Given the description of an element on the screen output the (x, y) to click on. 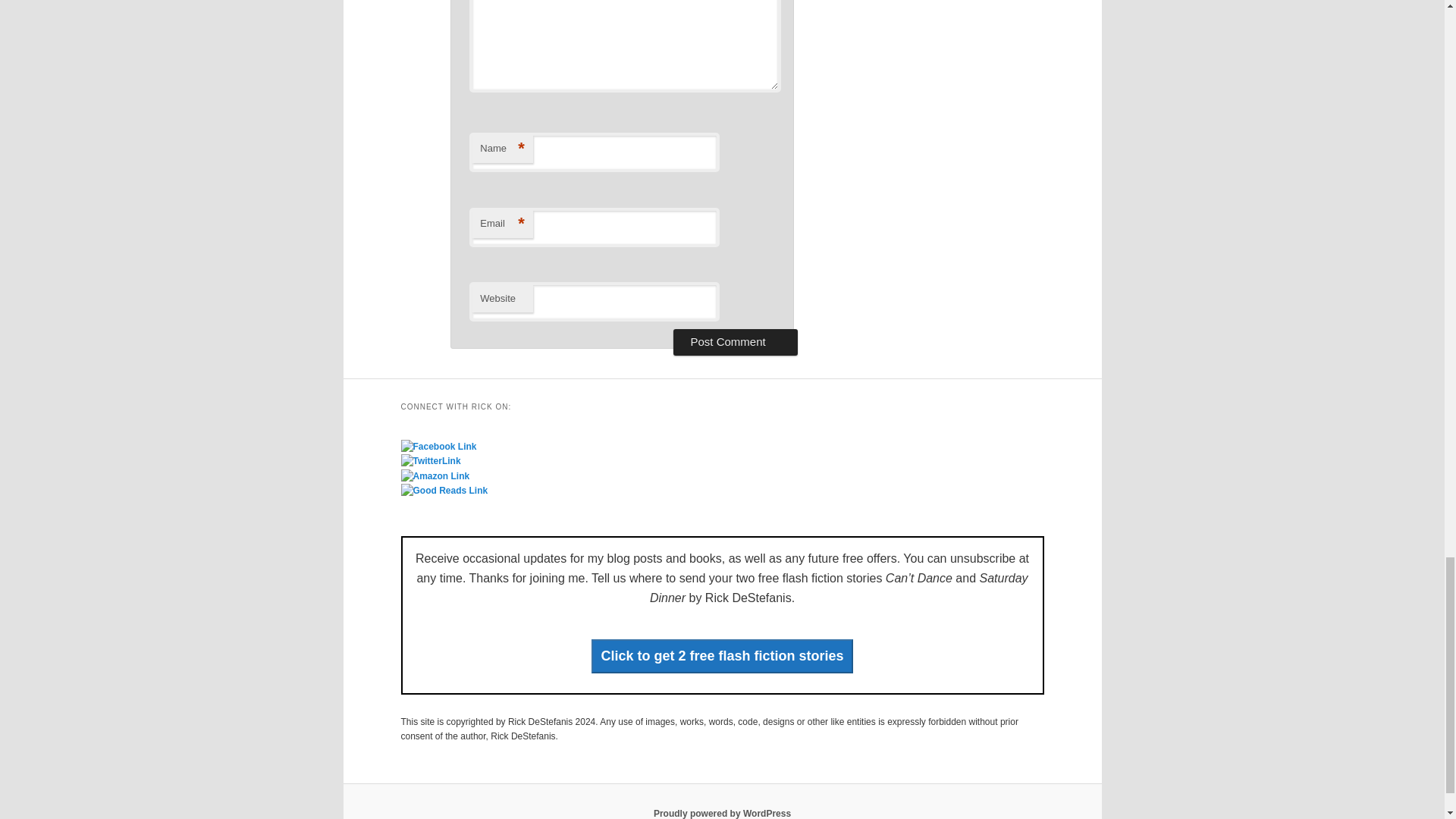
Post Comment (734, 341)
Click to get 2 free flash fiction stories (721, 656)
Post Comment (734, 341)
